Given the description of an element on the screen output the (x, y) to click on. 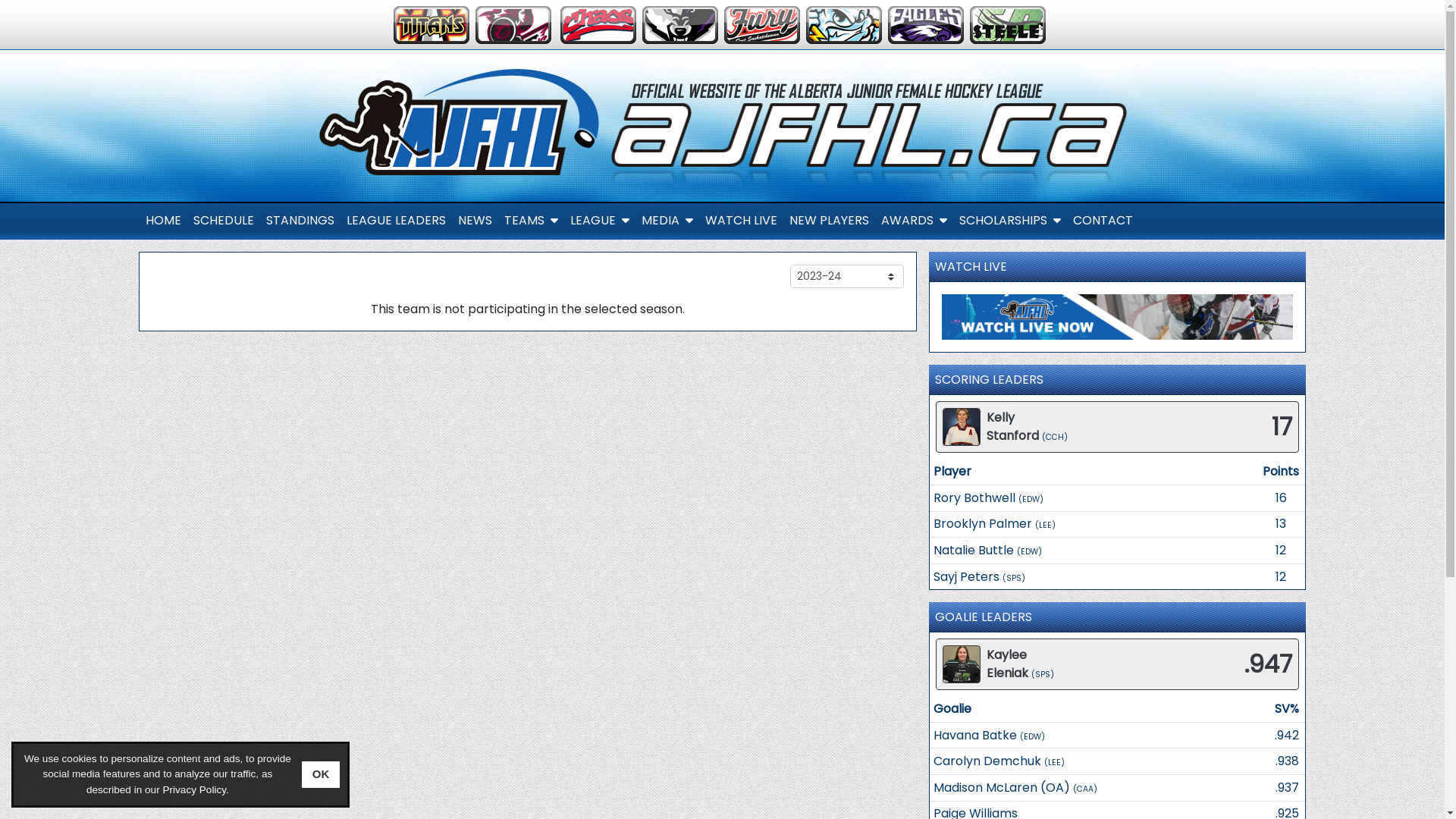
Brooklyn Palmer Element type: text (982, 523)
STANDINGS Element type: text (299, 220)
NEW PLAYERS Element type: text (828, 220)
MEDIA Element type: text (667, 220)
Havana Batke Element type: text (974, 734)
Privacy Policy Element type: text (193, 789)
WATCH LIVE Element type: text (741, 220)
LEAGUE LEADERS Element type: text (395, 220)
Rory Bothwell Element type: text (974, 497)
Carolyn Demchuk Element type: text (987, 760)
Sayj Peters Element type: text (966, 575)
SCHOLARSHIPS Element type: text (1009, 220)
AWARDS Element type: text (914, 220)
NEWS Element type: text (474, 220)
LEAGUE Element type: text (599, 220)
CONTACT Element type: text (1102, 220)
Madison McLaren (OA) Element type: text (1001, 787)
Kelly
Stanford Element type: text (1012, 426)
Natalie Buttle Element type: text (973, 549)
SCHEDULE Element type: text (222, 220)
HOME Element type: text (163, 220)
TEAMS Element type: text (530, 220)
Kaylee
Eleniak Element type: text (1007, 663)
OK Element type: text (320, 774)
